Given the description of an element on the screen output the (x, y) to click on. 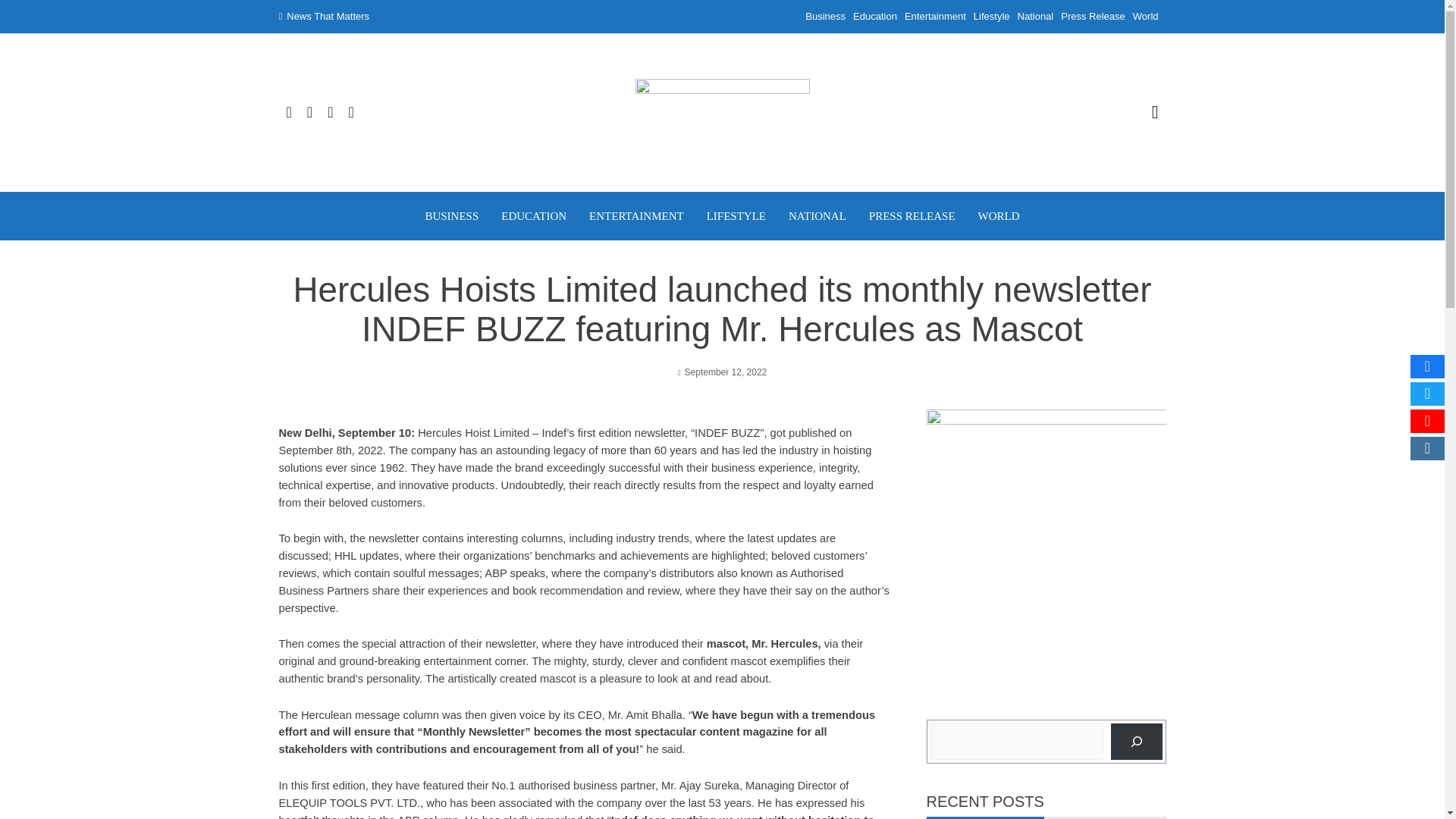
Press Release (1093, 16)
LIFESTYLE (735, 215)
Business (825, 16)
Lifestyle (992, 16)
BUSINESS (452, 215)
Entertainment (935, 16)
Education (874, 16)
WORLD (999, 215)
World (1145, 16)
NATIONAL (817, 215)
ENTERTAINMENT (636, 215)
EDUCATION (533, 215)
PRESS RELEASE (912, 215)
National (1035, 16)
